Given the description of an element on the screen output the (x, y) to click on. 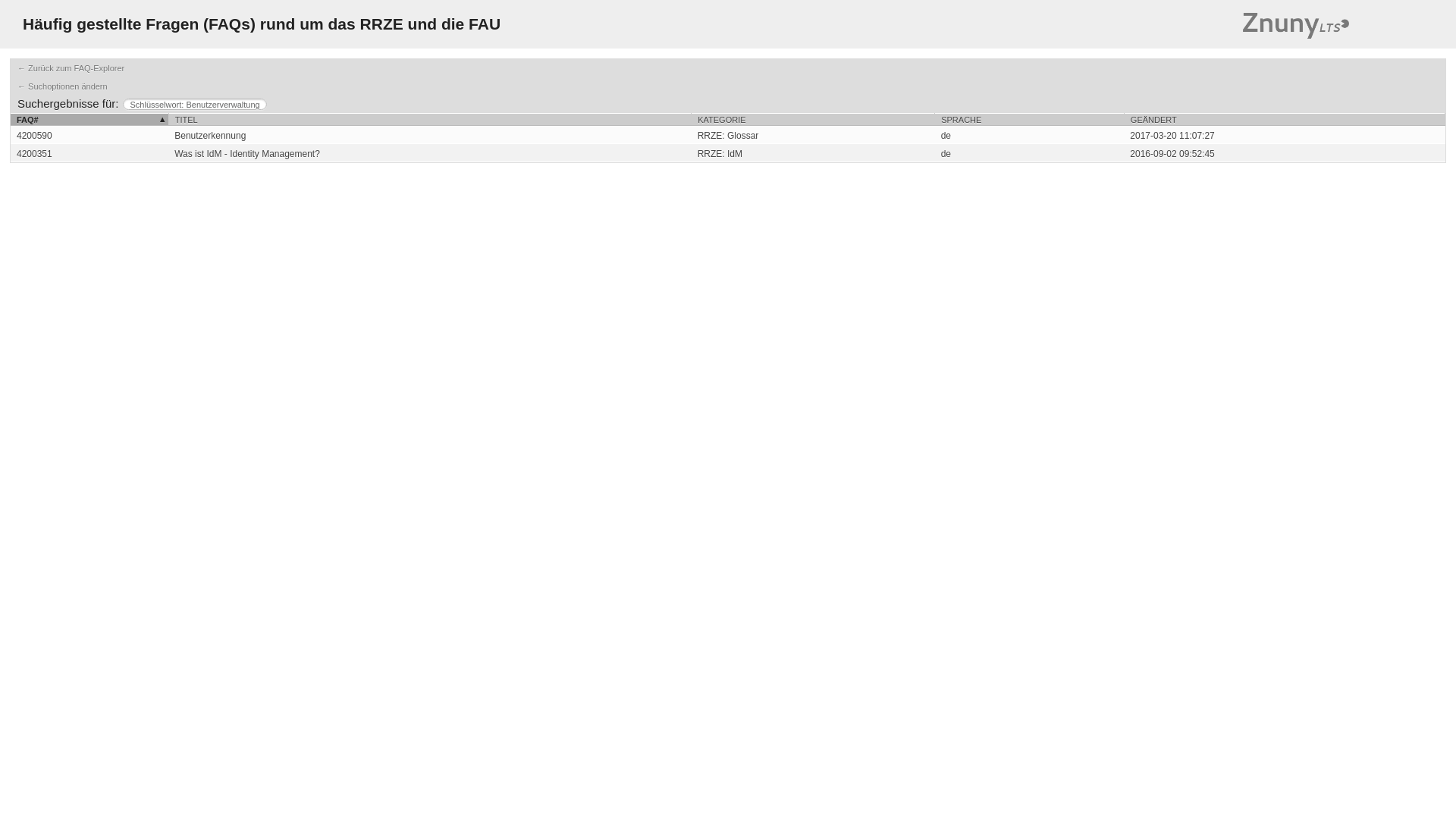
TITEL (429, 119)
KATEGORIE (812, 119)
02.09.2016 09:52 (1284, 153)
4200590 (727, 135)
Benutzerkennung (429, 135)
SPRACHE (1029, 119)
4200351 (34, 153)
Was ist IdM - Identity Management? (429, 153)
20.03.2017 11:07 (1284, 135)
4200590 (34, 135)
4200351 (727, 153)
